Given the description of an element on the screen output the (x, y) to click on. 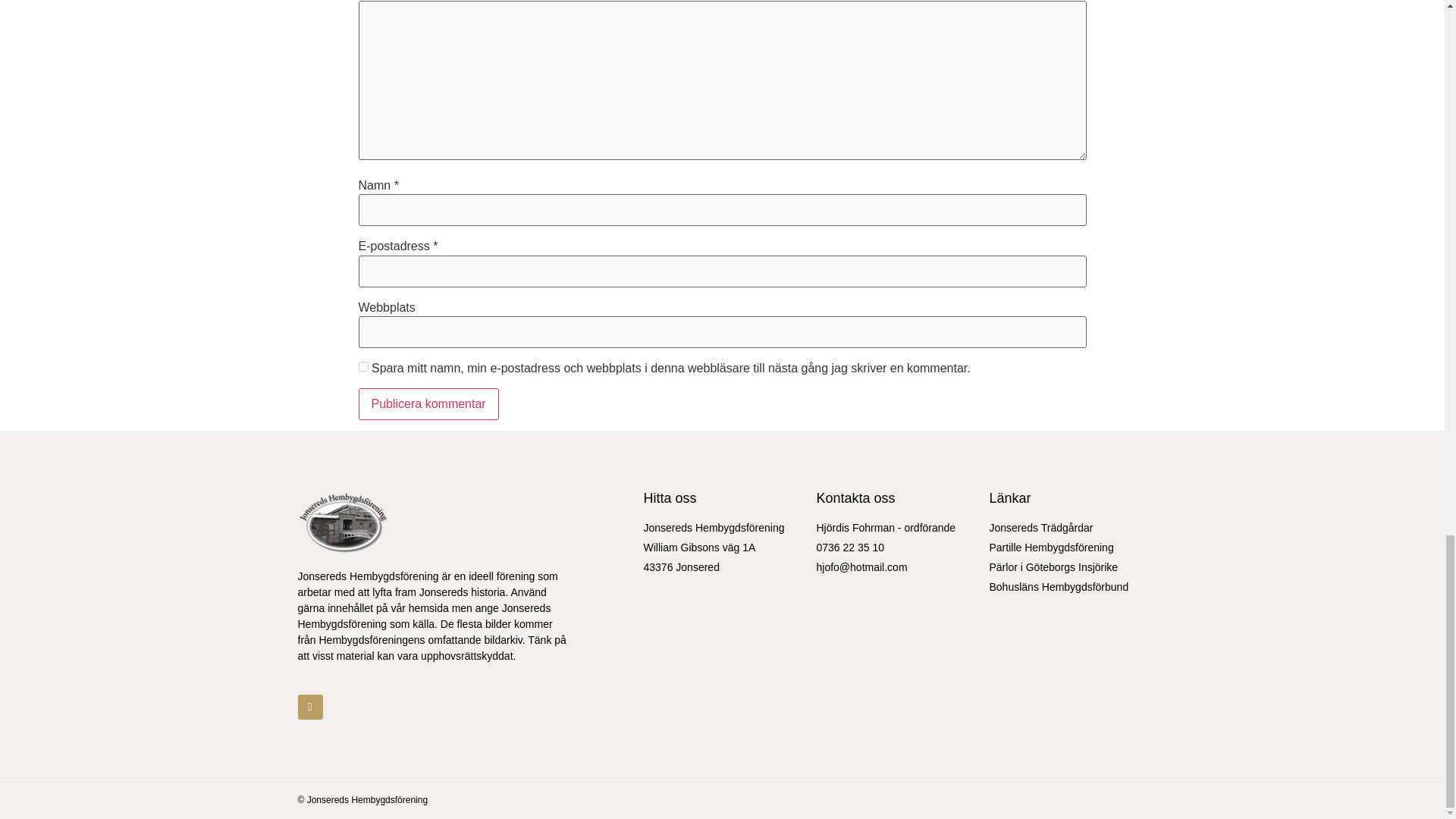
Publicera kommentar (427, 404)
yes (363, 366)
Publicera kommentar (427, 404)
